Given the description of an element on the screen output the (x, y) to click on. 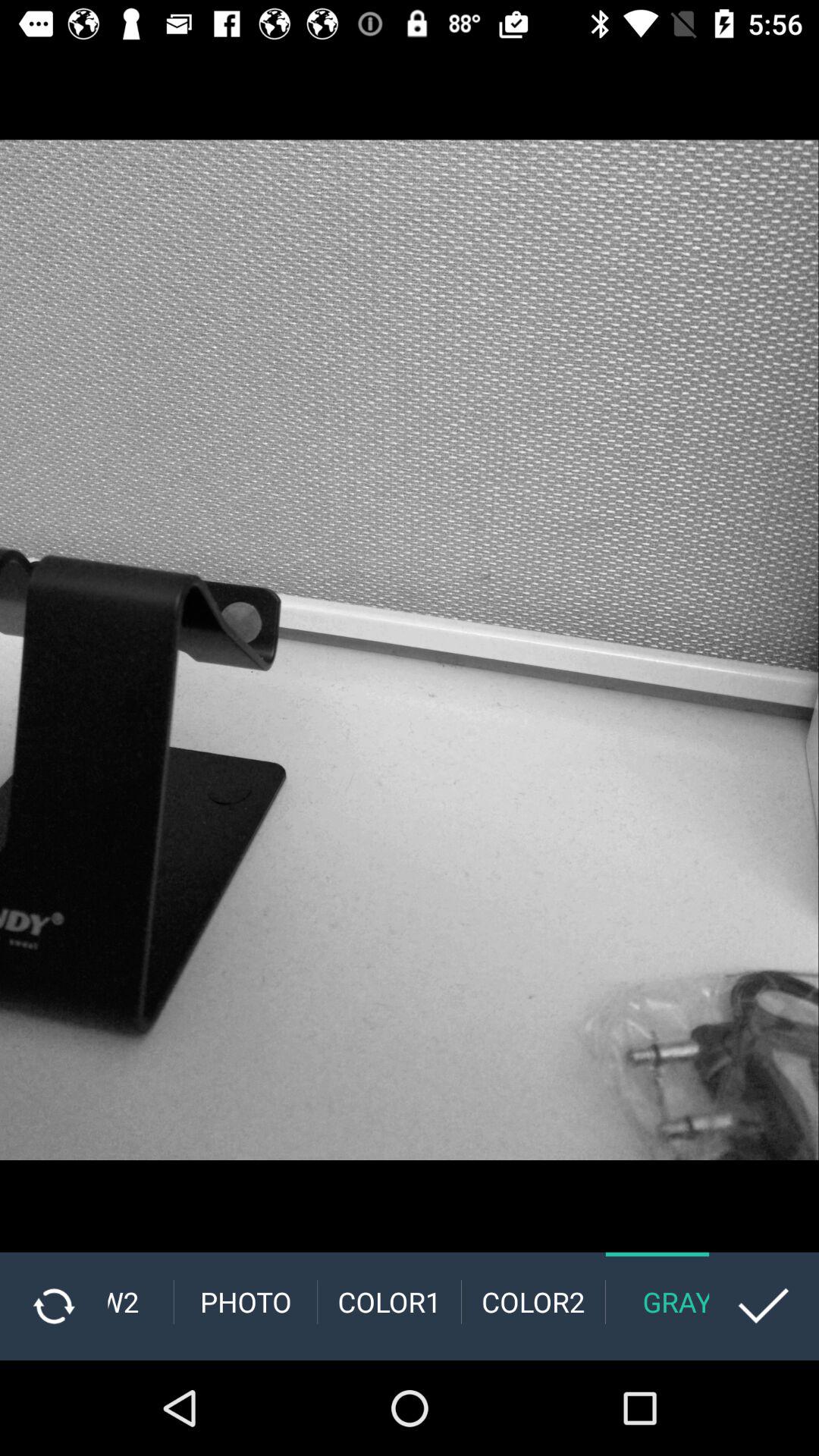
scroll to the color2 icon (533, 1301)
